Given the description of an element on the screen output the (x, y) to click on. 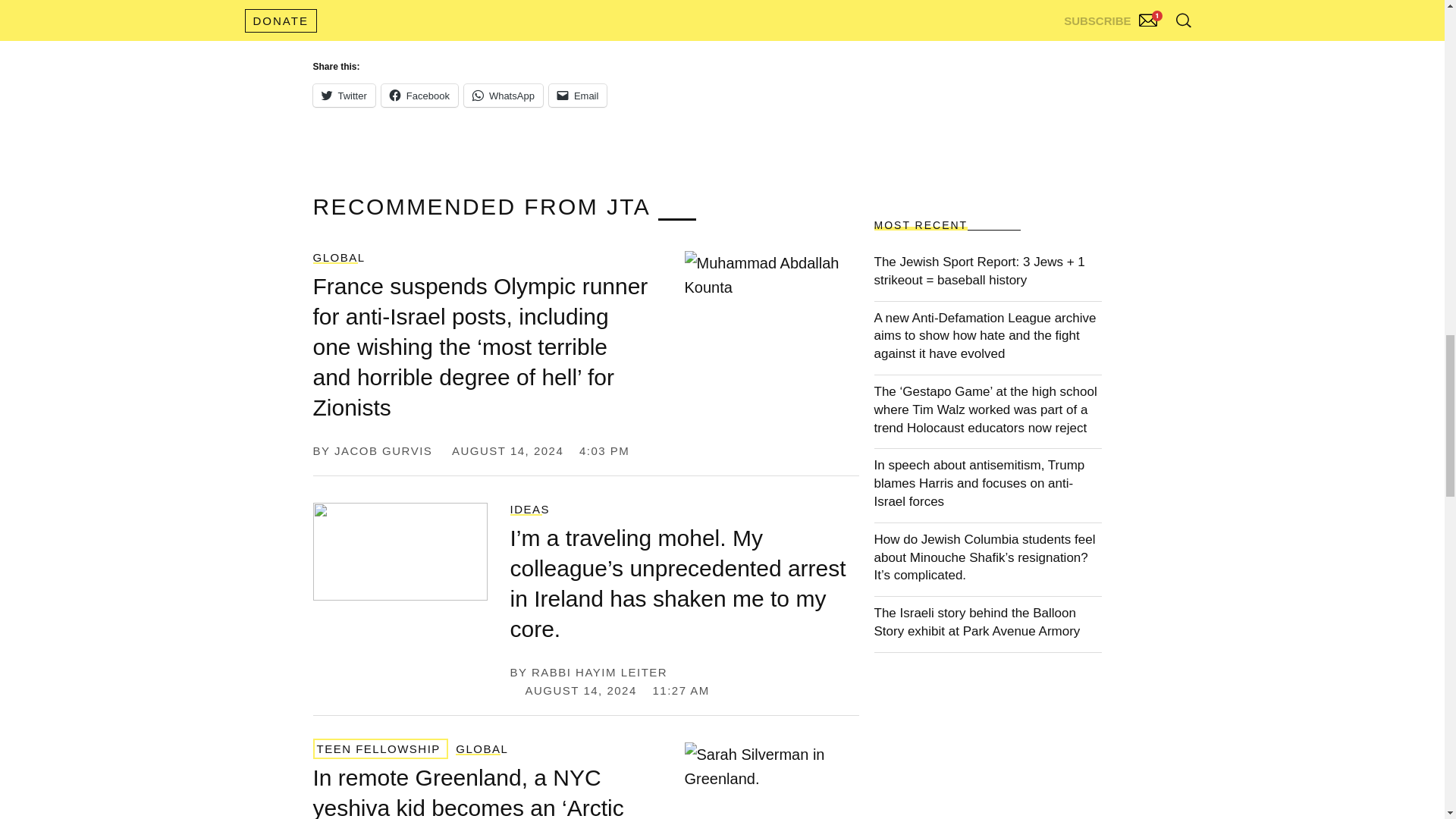
Click to share on Facebook (419, 95)
Click to email a link to a friend (577, 95)
Click to share on Twitter (343, 95)
Click to share on WhatsApp (503, 95)
